Given the description of an element on the screen output the (x, y) to click on. 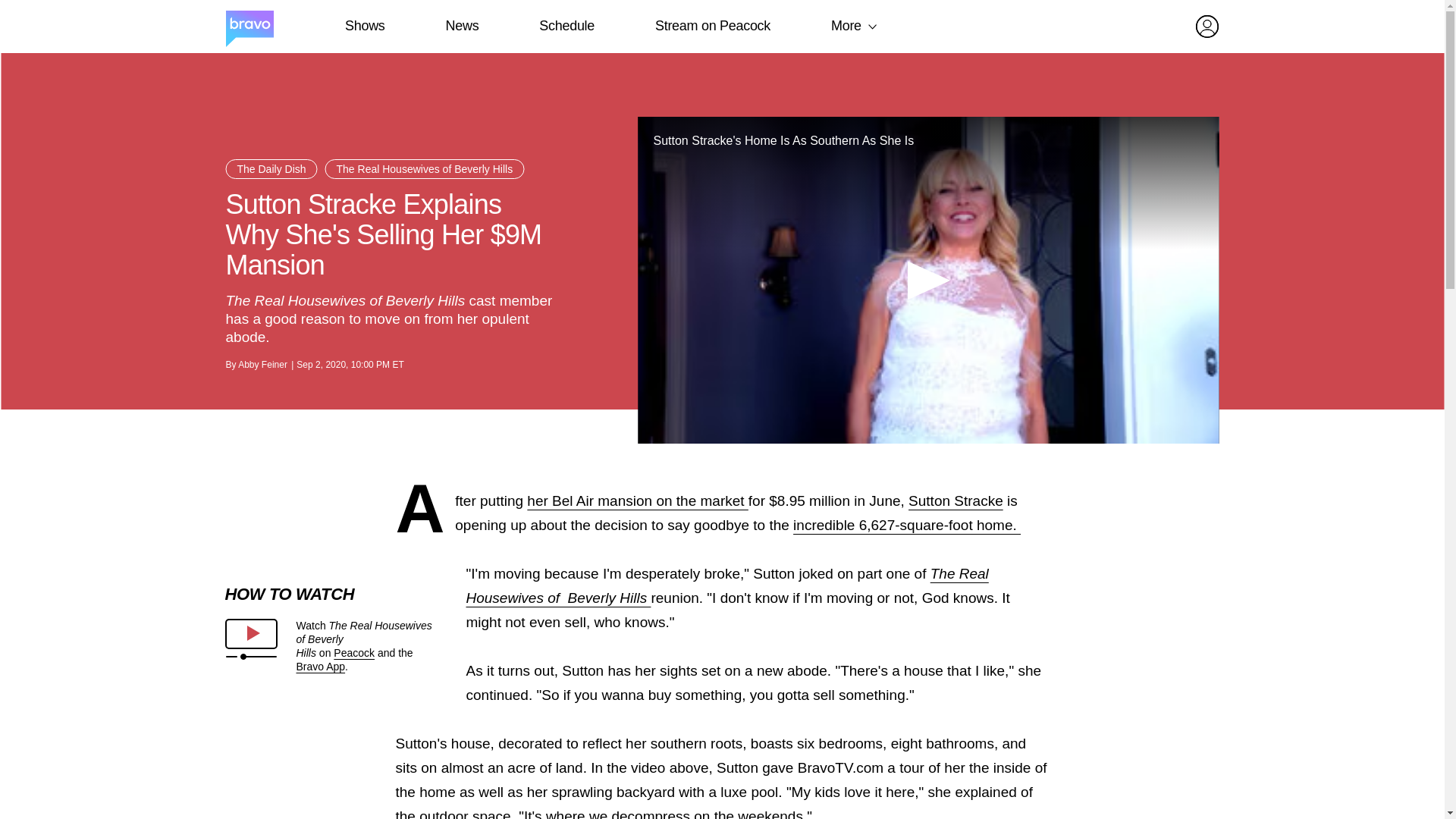
Shows (363, 26)
Sutton Stracke (955, 500)
More (846, 26)
Schedule (566, 26)
The Real Housewives of  Beverly Hills (726, 585)
The Real Housewives of Beverly Hills (424, 168)
Home (249, 26)
Stream on Peacock (712, 26)
Bravo App (320, 666)
